Given the description of an element on the screen output the (x, y) to click on. 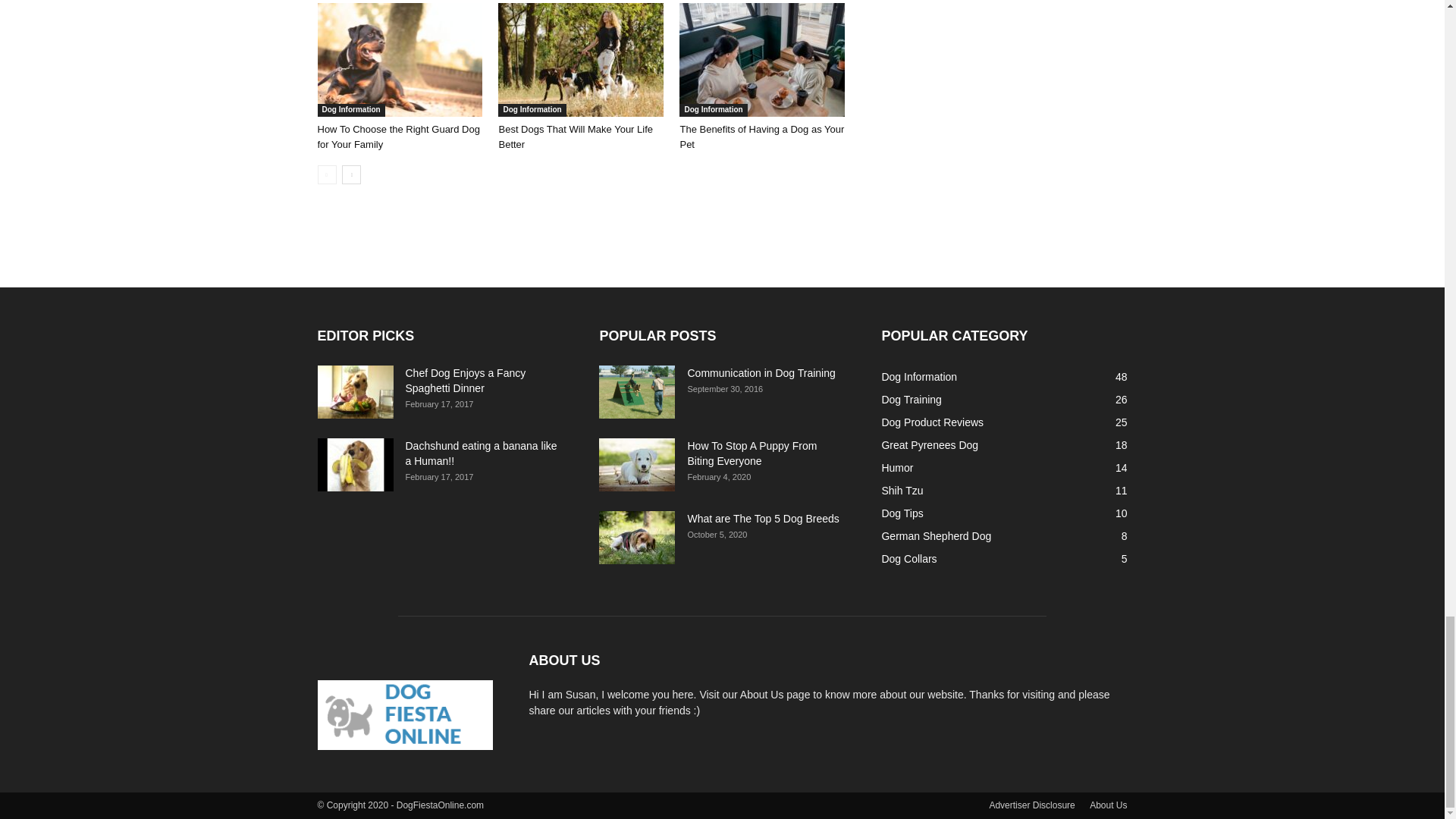
The Benefits of Having a Dog as Your Pet (761, 136)
How To Choose the Right Guard Dog for Your Family (398, 136)
Best Dogs That Will Make Your Life Better (574, 136)
Best Dogs That Will Make Your Life Better (580, 60)
The Benefits of Having a Dog as Your Pet (761, 60)
How To Choose the Right Guard Dog for Your Family (399, 60)
Chef Dog Enjoys a Fancy Spaghetti Dinner (355, 391)
Chef Dog Enjoys a Fancy Spaghetti Dinner (464, 379)
Dachshund eating a banana like a Human!! (355, 464)
